Given the description of an element on the screen output the (x, y) to click on. 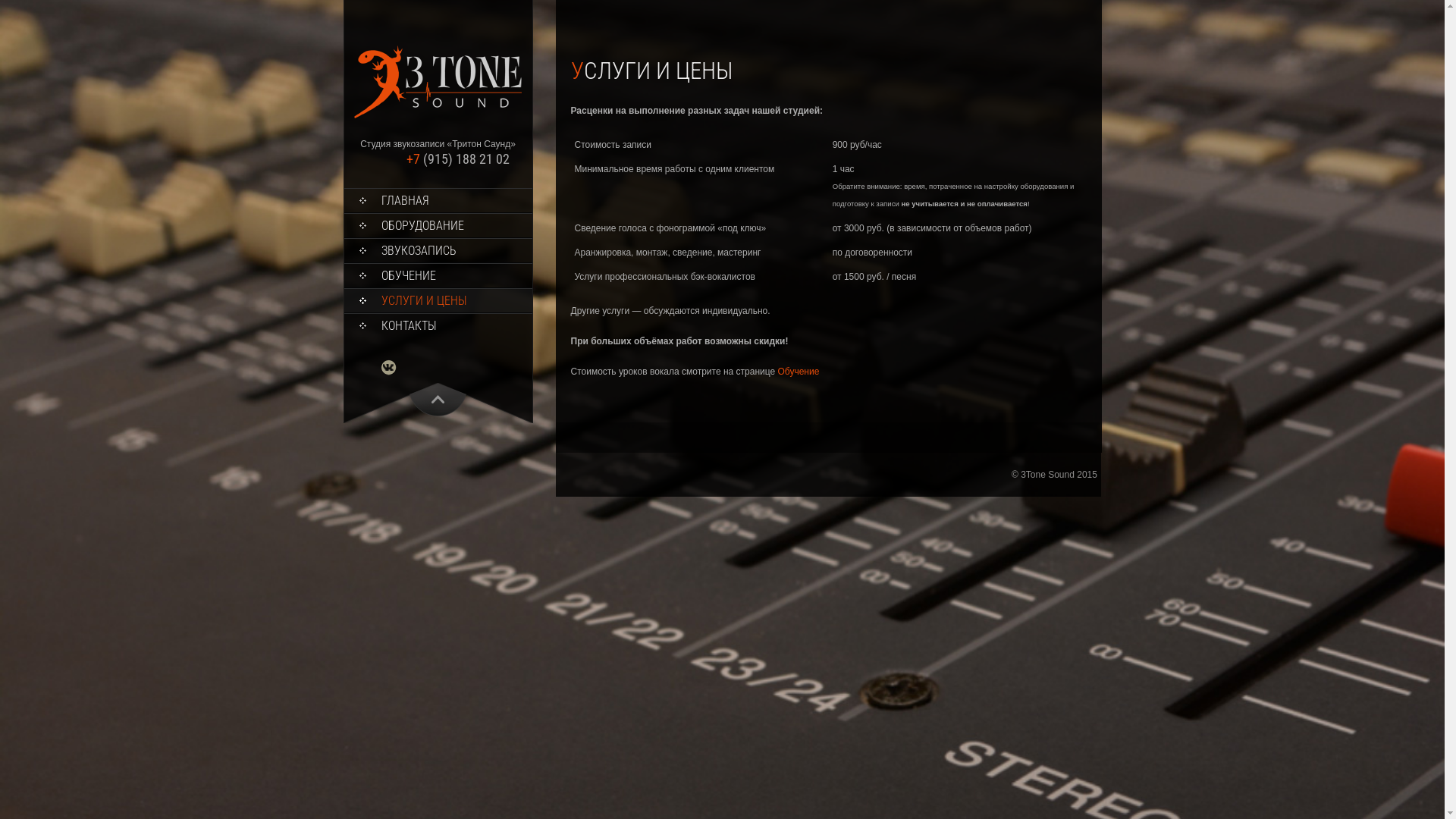
Vkontakte Element type: hover (395, 367)
